Given the description of an element on the screen output the (x, y) to click on. 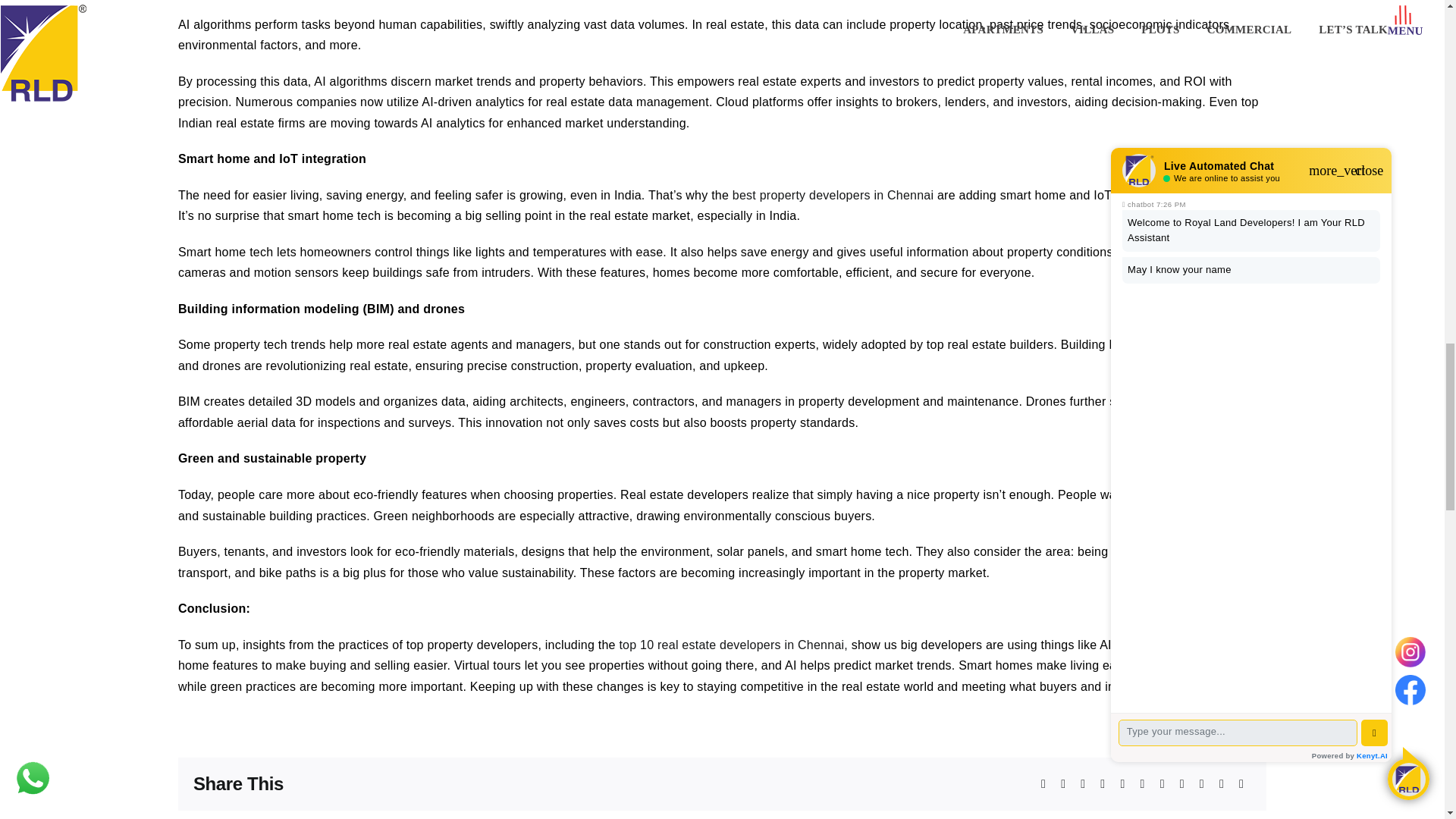
best property developers in Chennai (832, 195)
top 10 real estate developers in Chennai, (732, 644)
